Given the description of an element on the screen output the (x, y) to click on. 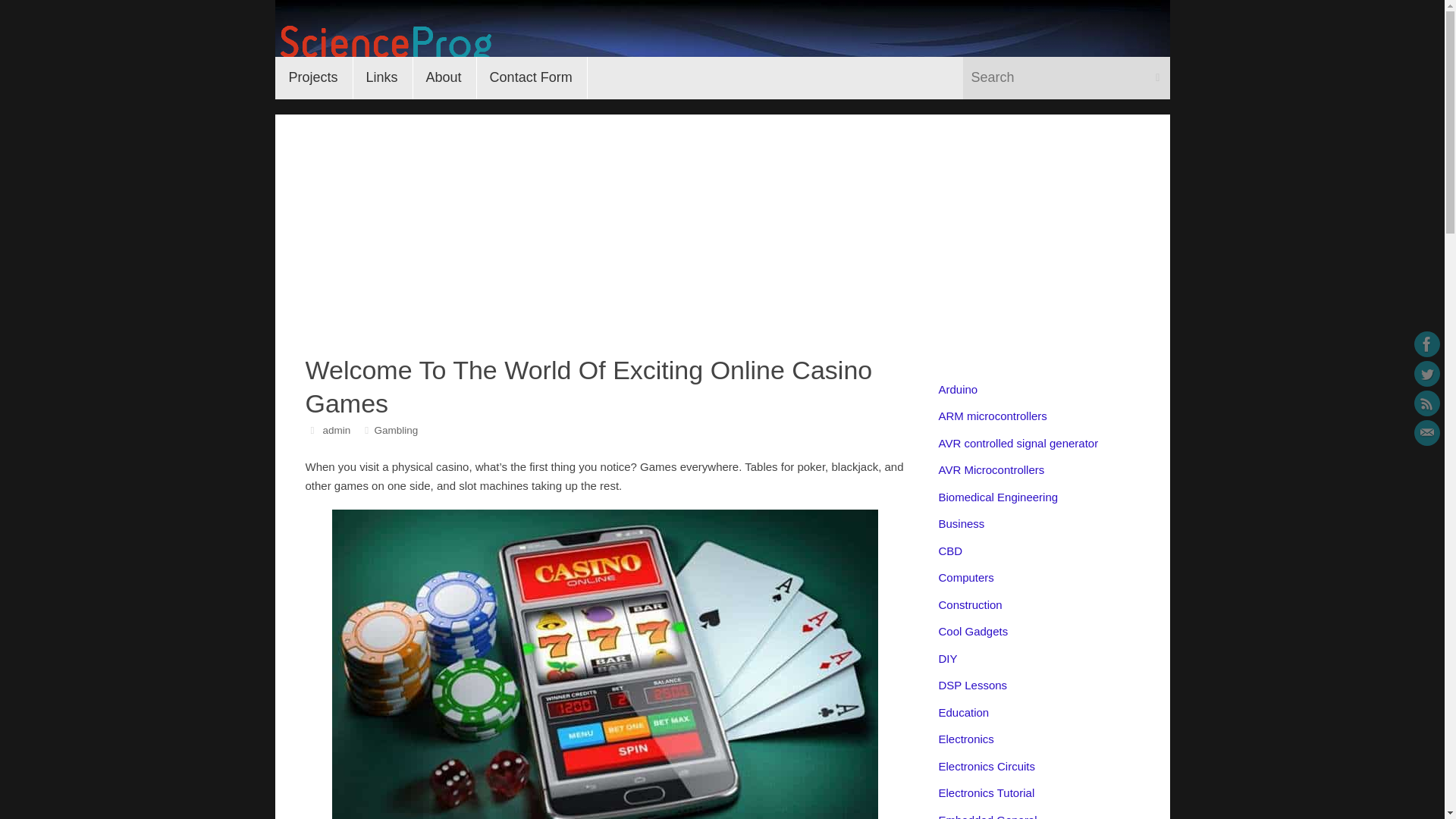
View all posts by admin (335, 430)
Contact Form (531, 77)
Gambling (395, 430)
3rd party ad content (998, 38)
Do It Easy With ScienceProg (383, 44)
Facebook (1426, 344)
Twitter (1426, 373)
Projects (313, 77)
CBD (950, 550)
DIY (948, 658)
